Given the description of an element on the screen output the (x, y) to click on. 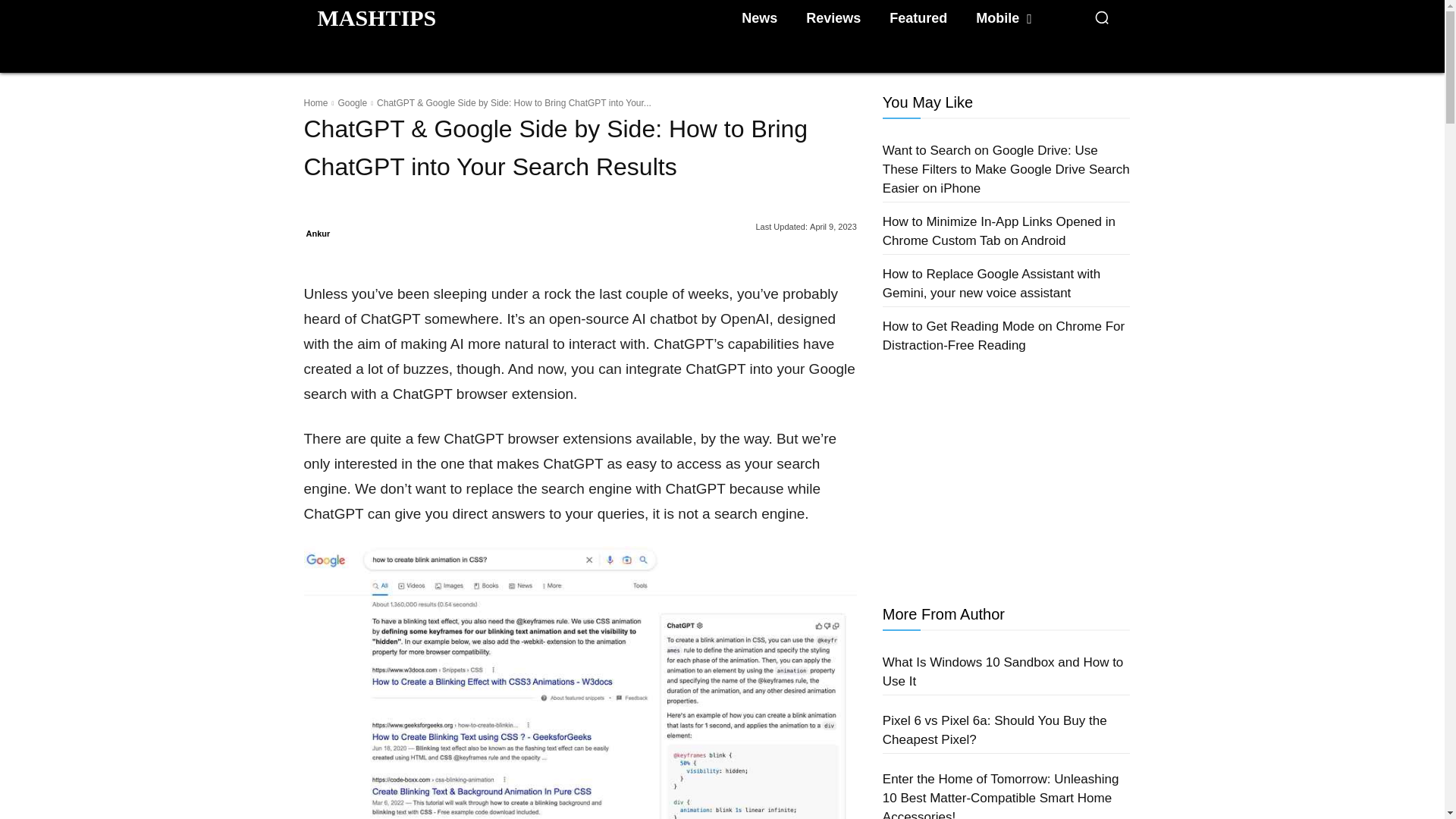
News (758, 18)
MASHTIPS (376, 17)
Google (351, 102)
MASHTIPS (376, 17)
Reviews (832, 18)
Ankur (317, 232)
Mobile (1003, 18)
Featured (918, 18)
View all posts in Google (351, 102)
Home (314, 102)
